Given the description of an element on the screen output the (x, y) to click on. 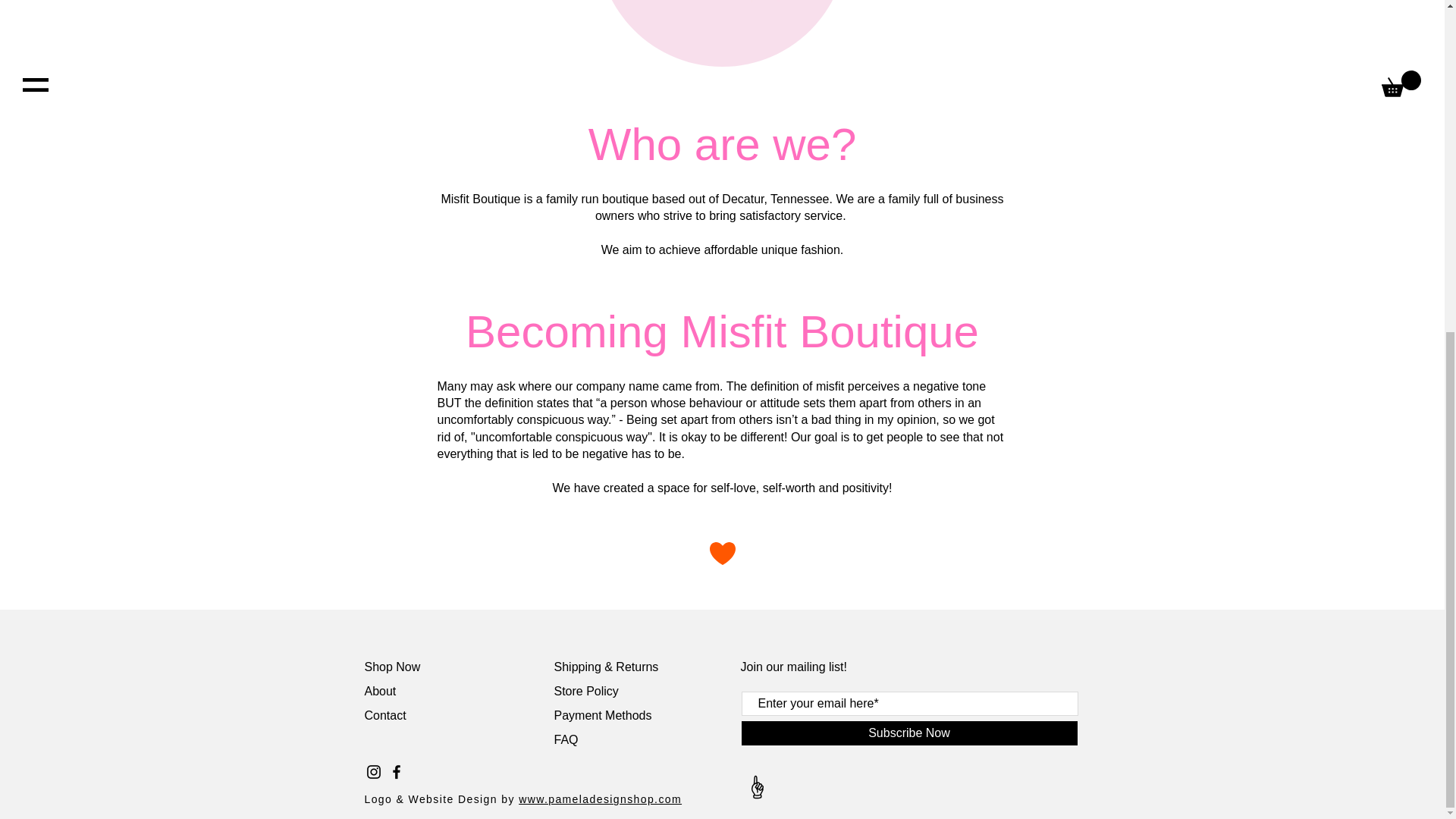
Join our mailing list! (793, 666)
Shop Now (392, 666)
www.pameladesignshop.com (599, 799)
About  (381, 690)
Contact  (386, 715)
Subscribe Now (909, 733)
Payment Methods (601, 715)
Store Policy (585, 690)
FAQ (565, 739)
